Given the description of an element on the screen output the (x, y) to click on. 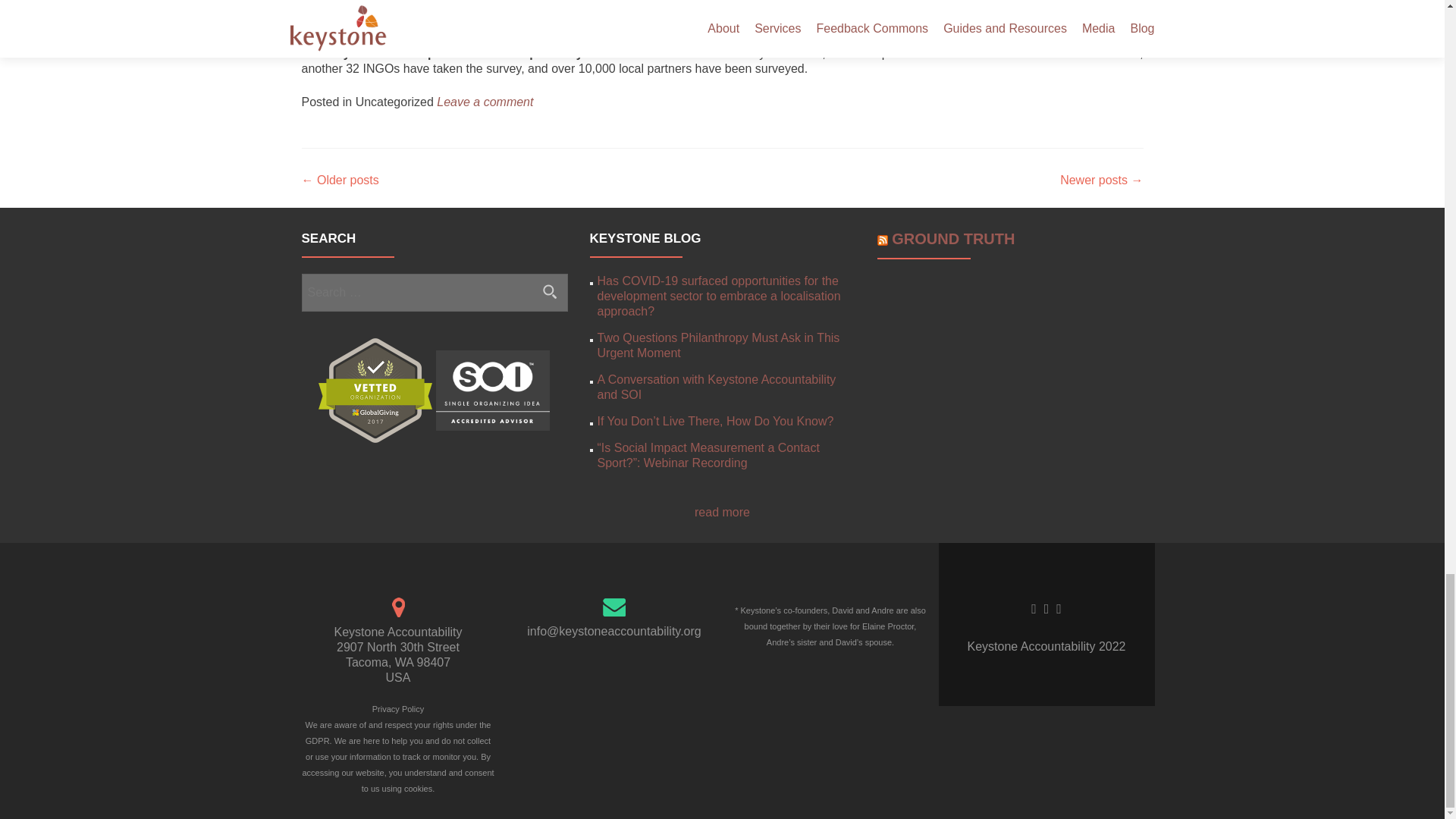
Search (549, 290)
Search (549, 290)
